Given the description of an element on the screen output the (x, y) to click on. 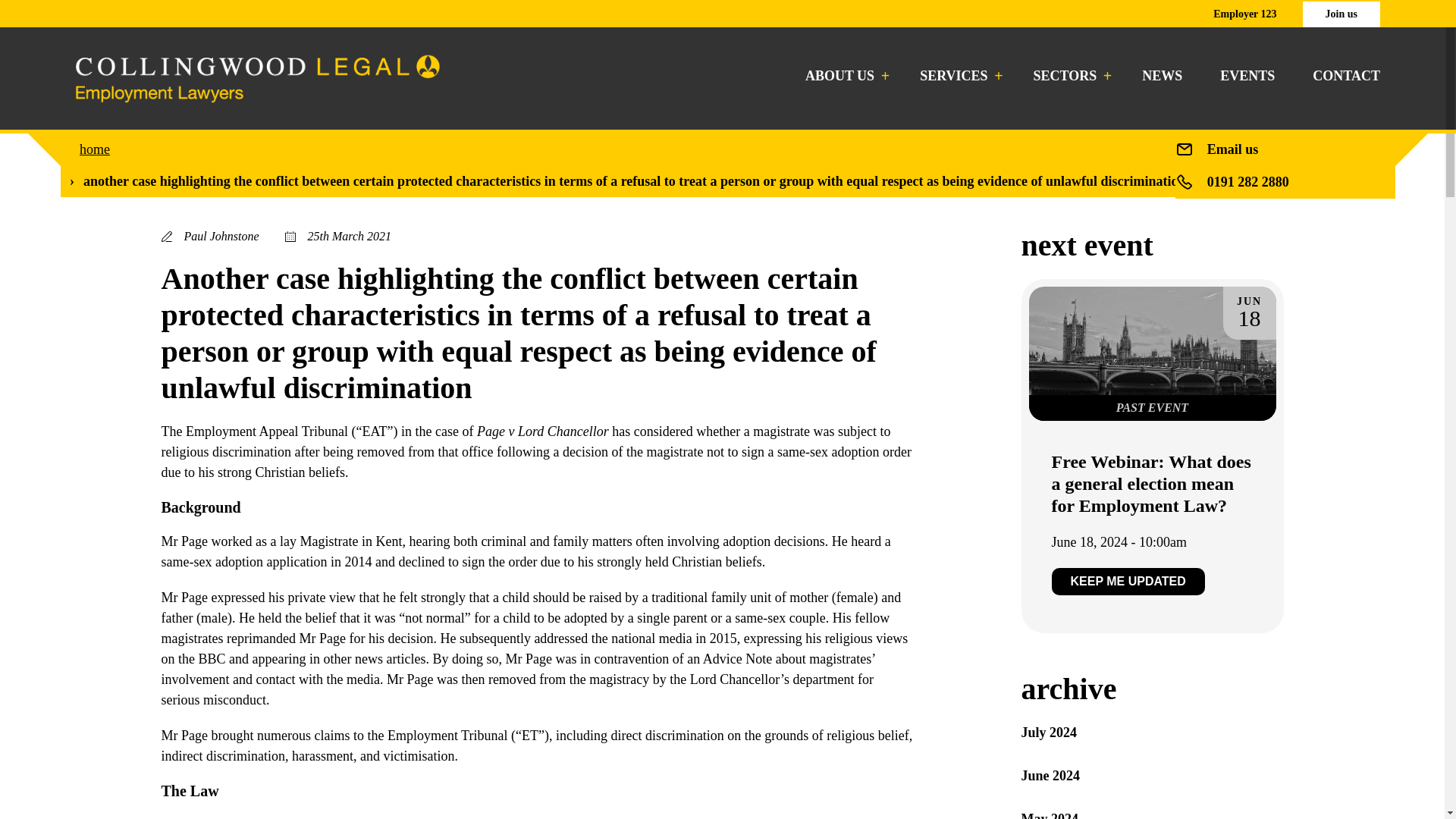
Email us (1233, 149)
NEWS (1161, 75)
SERVICES (957, 75)
Join us (1340, 13)
CONTACT (1346, 75)
EVENTS (1247, 75)
ABOUT US (843, 75)
0191 282 2880 (1247, 181)
SECTORS (1069, 75)
home (95, 149)
Employer 123 (1244, 13)
